Given the description of an element on the screen output the (x, y) to click on. 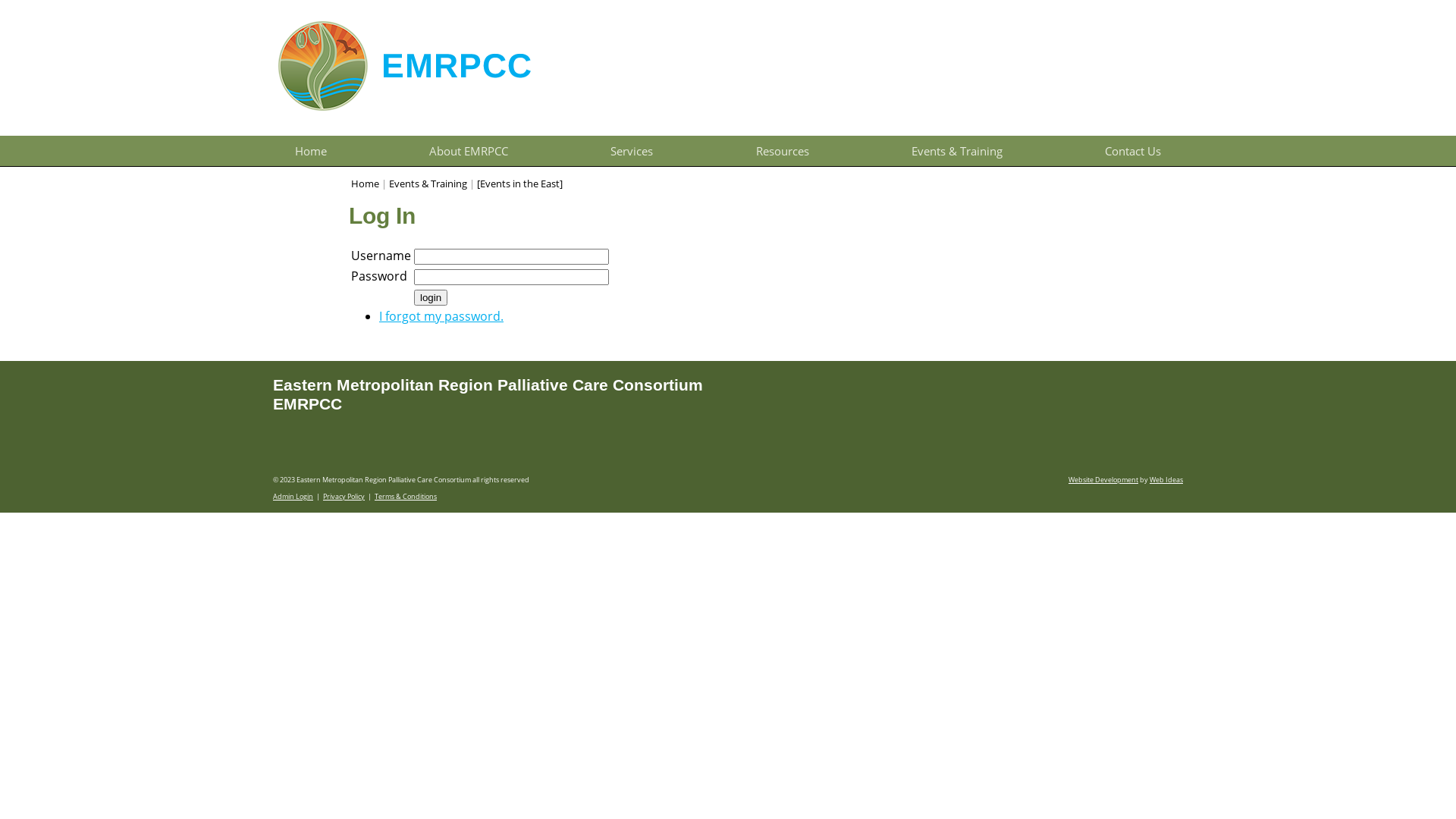
Events & Training Element type: text (956, 150)
Website Development Element type: text (1103, 479)
Events & Training Element type: text (428, 183)
About EMRPCC Element type: text (468, 150)
[Events in the East] Element type: text (519, 183)
Home Element type: text (310, 150)
I forgot my password. Element type: text (441, 315)
Admin Login Element type: text (293, 496)
Home Element type: text (365, 183)
Services Element type: text (631, 150)
Terms & Conditions Element type: text (405, 496)
Contact Us Element type: text (1132, 150)
login Element type: text (430, 297)
Resources Element type: text (782, 150)
Privacy Policy Element type: text (343, 496)
Web Ideas Element type: text (1166, 479)
